Given the description of an element on the screen output the (x, y) to click on. 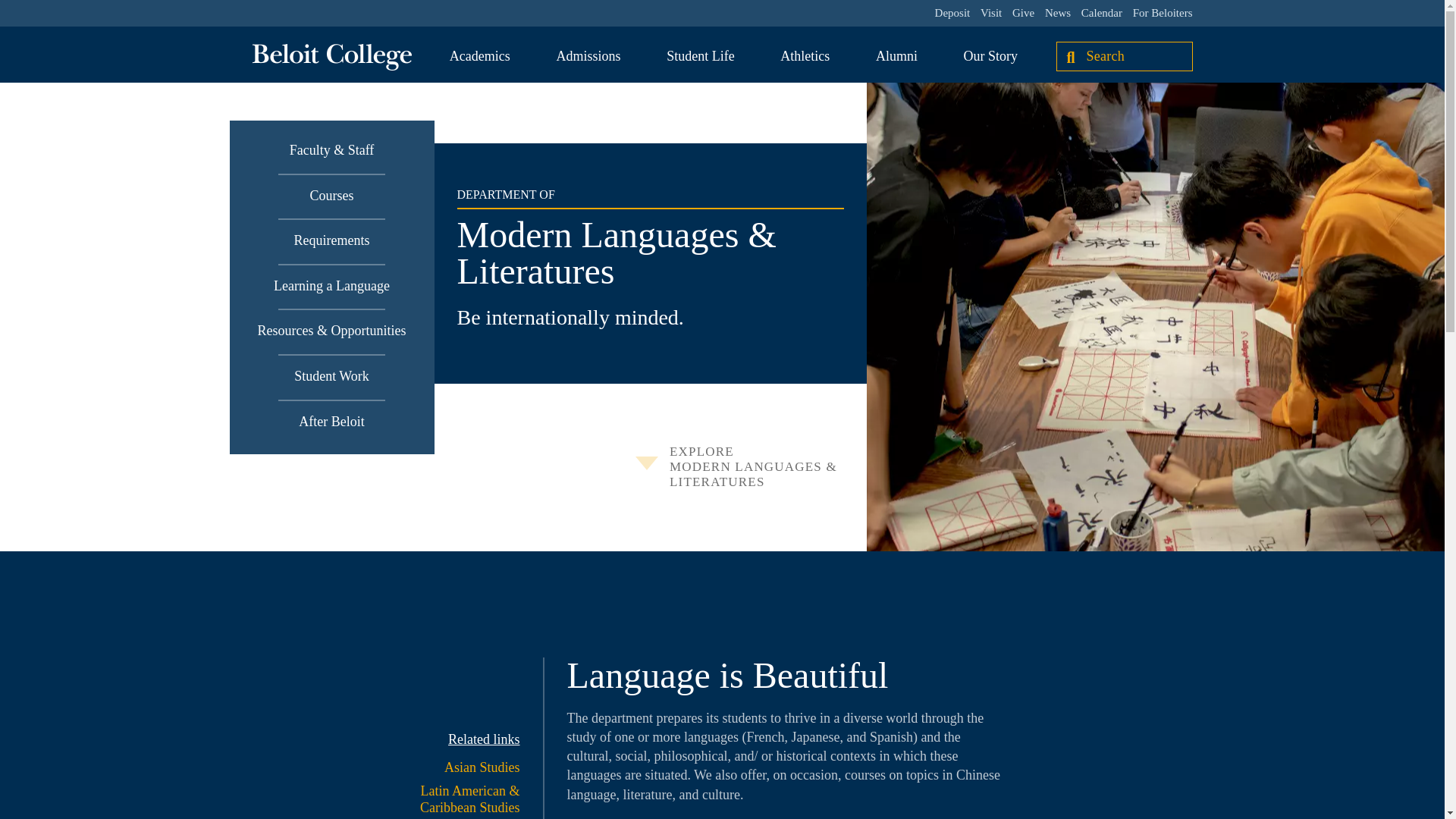
Learning a Language (331, 286)
For Beloiters (1162, 12)
Visit (990, 12)
Beloit College (330, 57)
Academics (480, 56)
Our Story (990, 56)
Deposit (952, 12)
Student Life (699, 56)
Admissions (588, 56)
Student Work (331, 376)
